Given the description of an element on the screen output the (x, y) to click on. 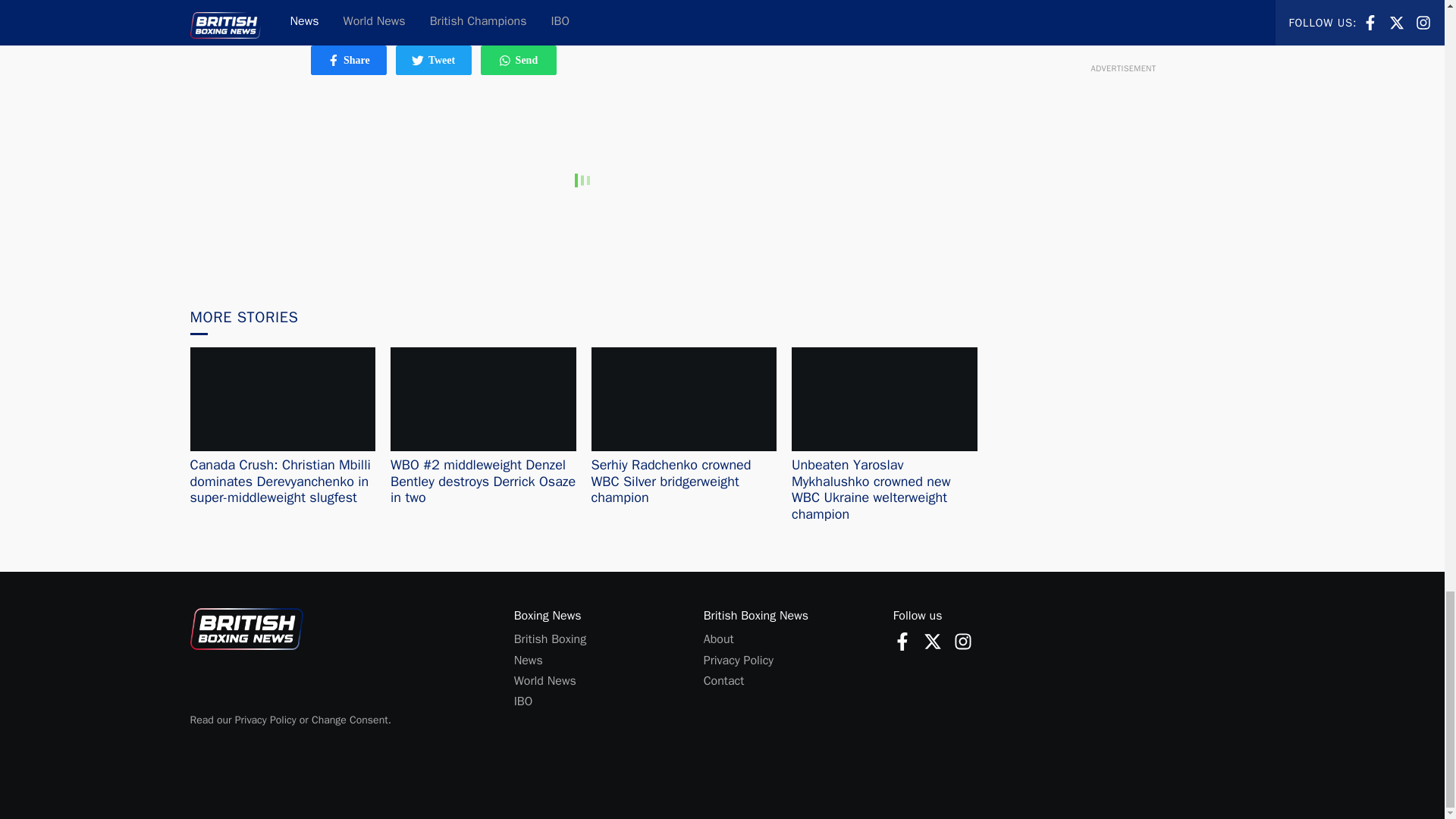
WhatsApp (505, 60)
Instagram (962, 641)
Privacy Policy (738, 660)
X (433, 60)
Facebook (932, 641)
News (333, 60)
